Given the description of an element on the screen output the (x, y) to click on. 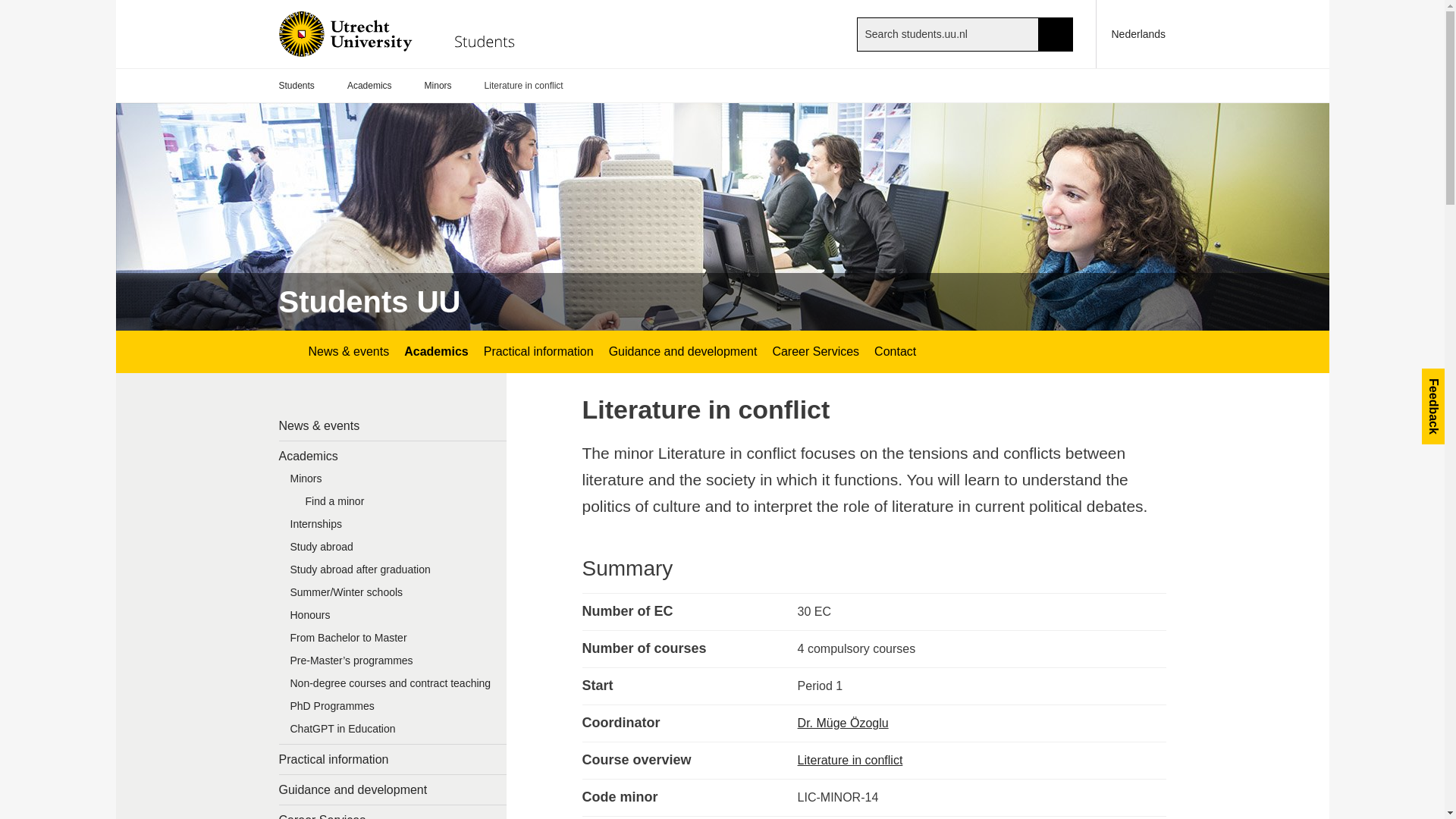
Students (296, 85)
Career Services (815, 351)
Internships (392, 527)
Practical information (392, 758)
Guidance and development (683, 351)
Nederlands (1131, 33)
Minors (392, 481)
Non-degree courses and contract teaching (392, 686)
SEARCH (1056, 33)
From Bachelor to Master (392, 640)
